Given the description of an element on the screen output the (x, y) to click on. 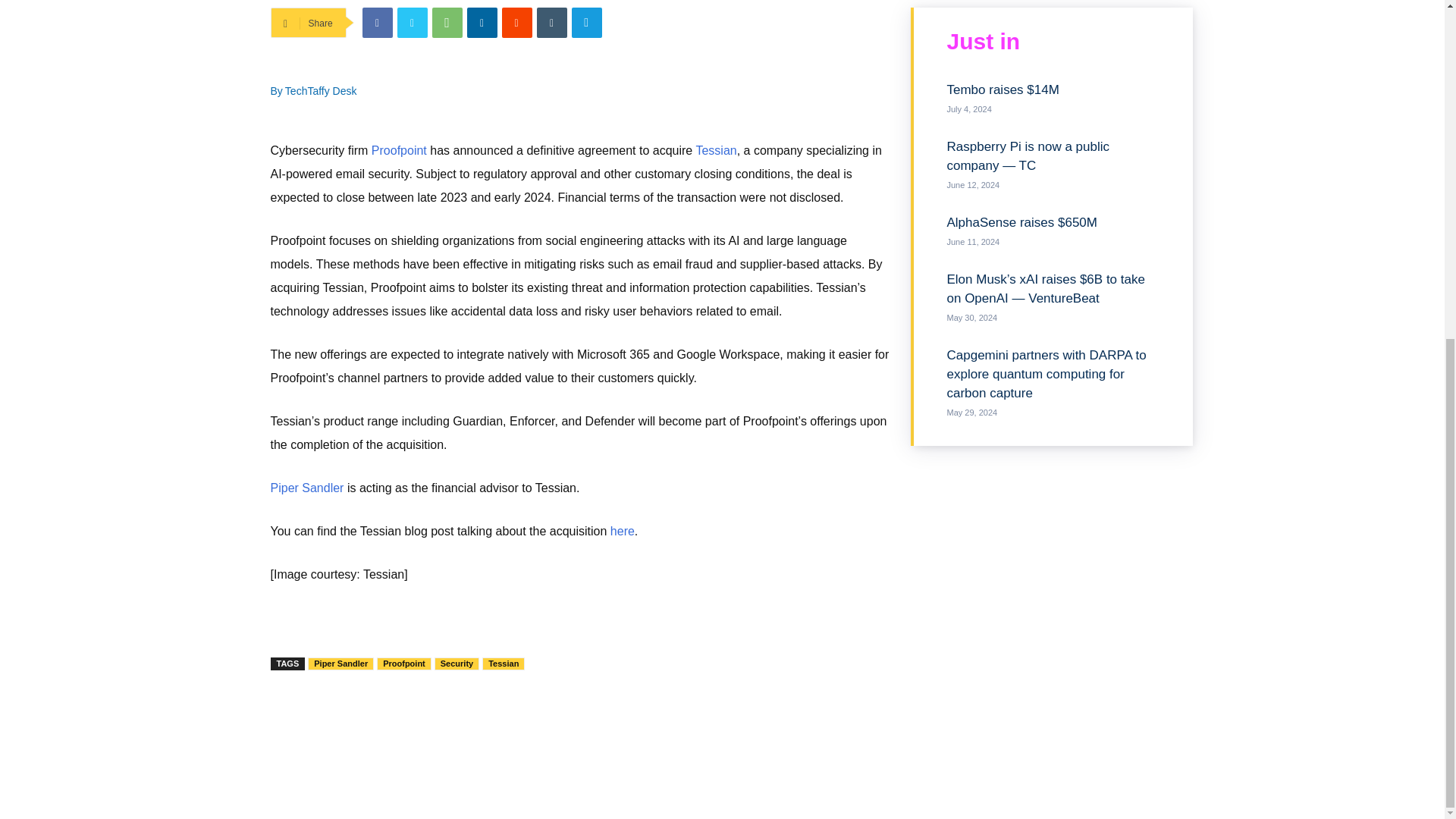
ReddIt (517, 22)
TechTaffy Desk (320, 90)
Facebook (377, 22)
Tessian (502, 663)
Security (456, 663)
WhatsApp (447, 22)
Piper Sandler (340, 663)
Proofpoint (398, 150)
Tessian (715, 150)
Proofpoint (403, 663)
Tumblr (552, 22)
Telegram (587, 22)
here (622, 530)
Piper Sandler (306, 487)
Twitter (412, 22)
